Given the description of an element on the screen output the (x, y) to click on. 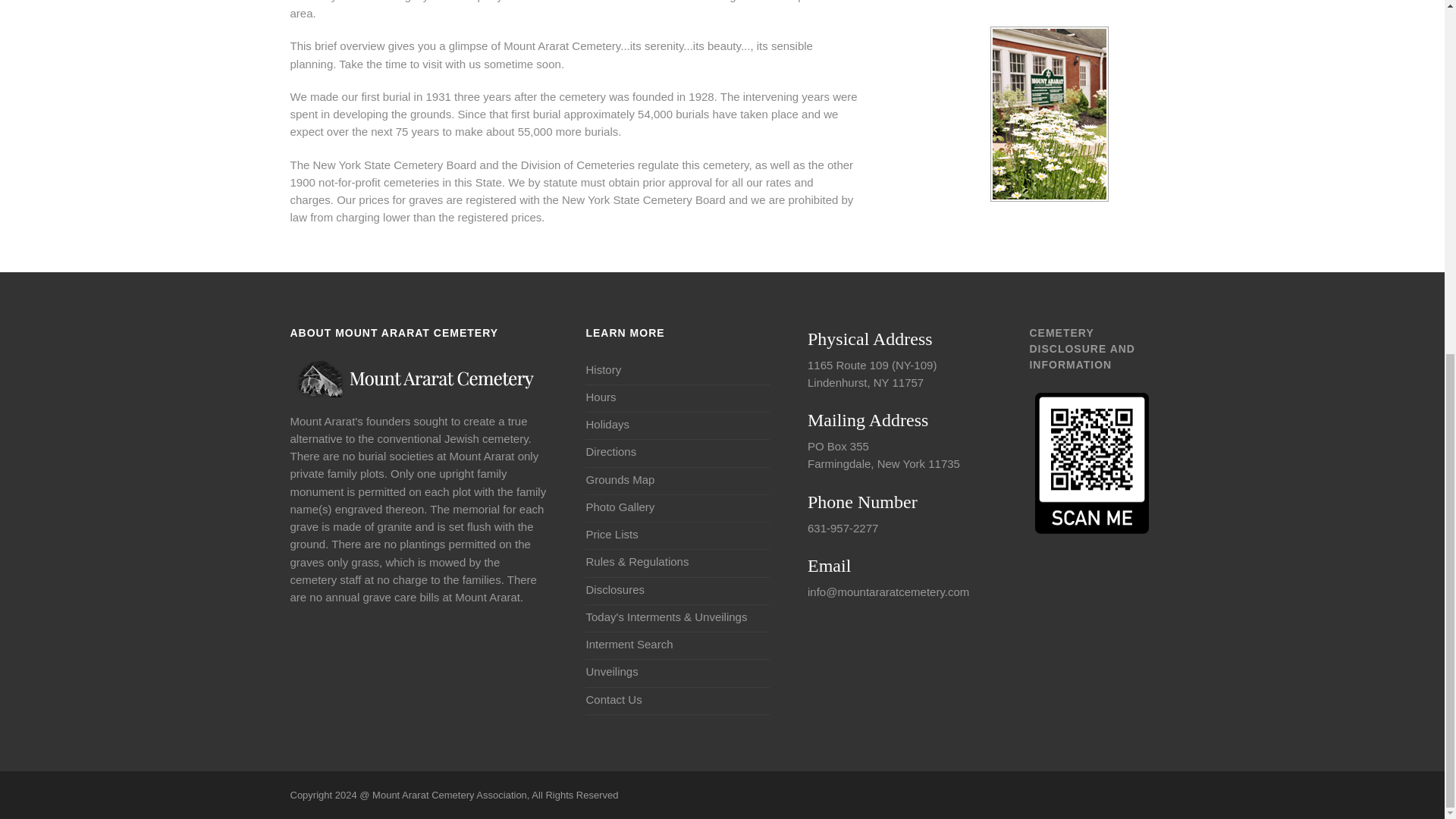
Unveilings (611, 671)
Directions (610, 451)
Interment Search (628, 643)
Unveilings (611, 671)
Photo Gallery (619, 506)
Hours (600, 396)
Disclosures (615, 588)
Holidays (606, 424)
Price Lists (611, 533)
Grounds Map (619, 479)
